Given the description of an element on the screen output the (x, y) to click on. 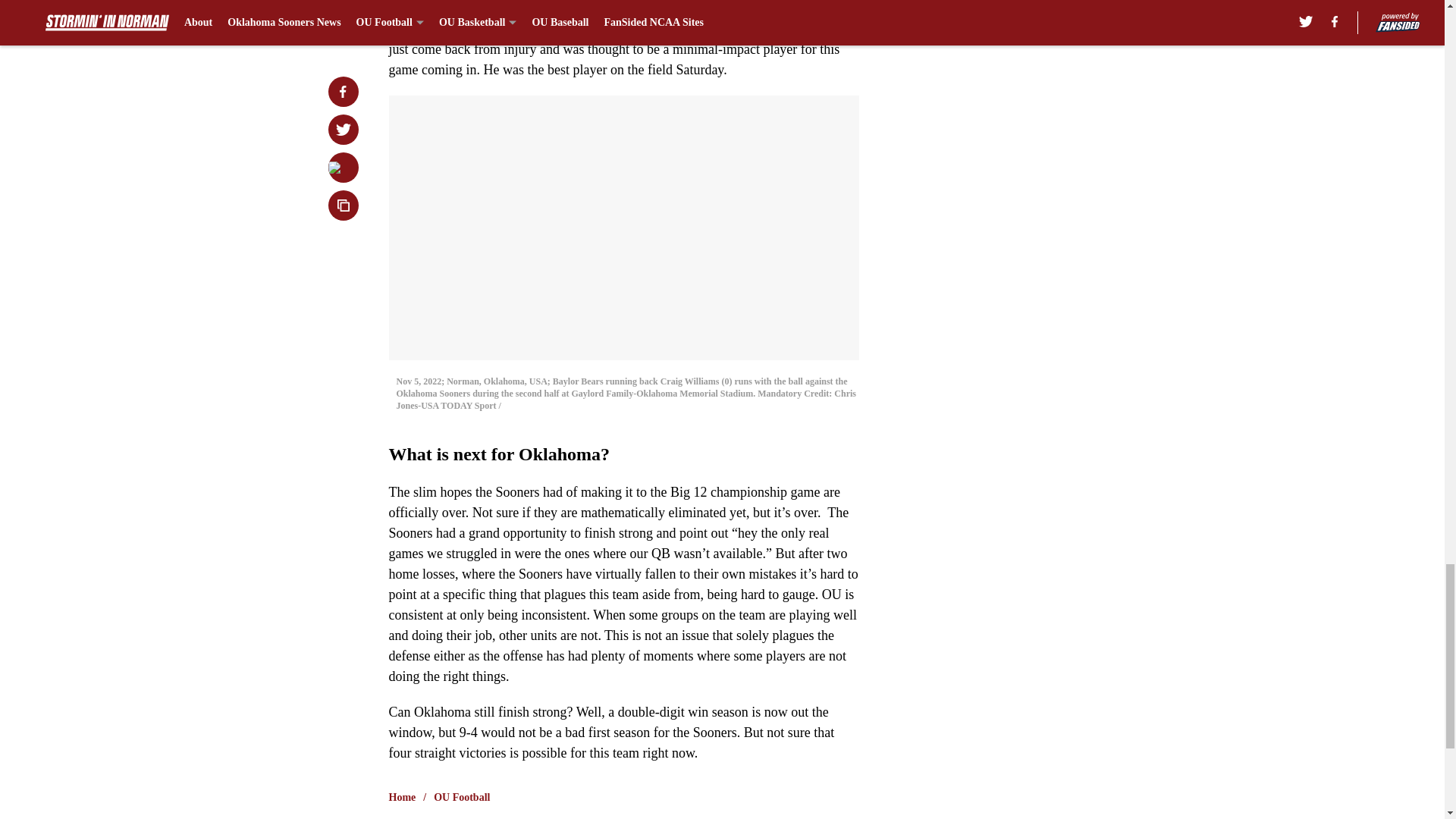
OU Football (461, 797)
Home (401, 797)
